Given the description of an element on the screen output the (x, y) to click on. 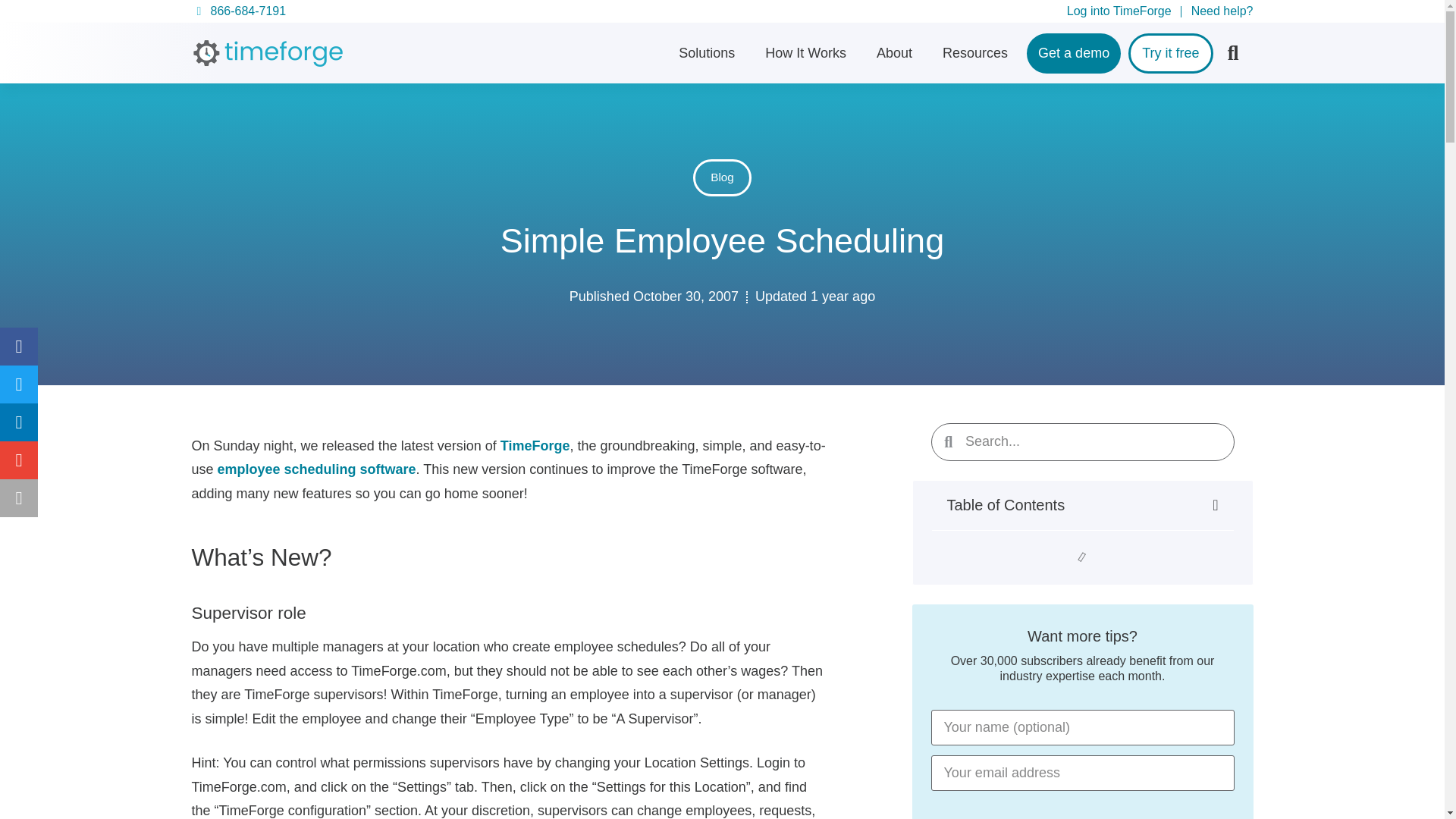
Log into TimeForge (1119, 11)
Solutions (705, 53)
Resources (975, 53)
About (893, 53)
How It Works (805, 53)
866-684-7191 (237, 11)
Need help? (1222, 11)
